Given the description of an element on the screen output the (x, y) to click on. 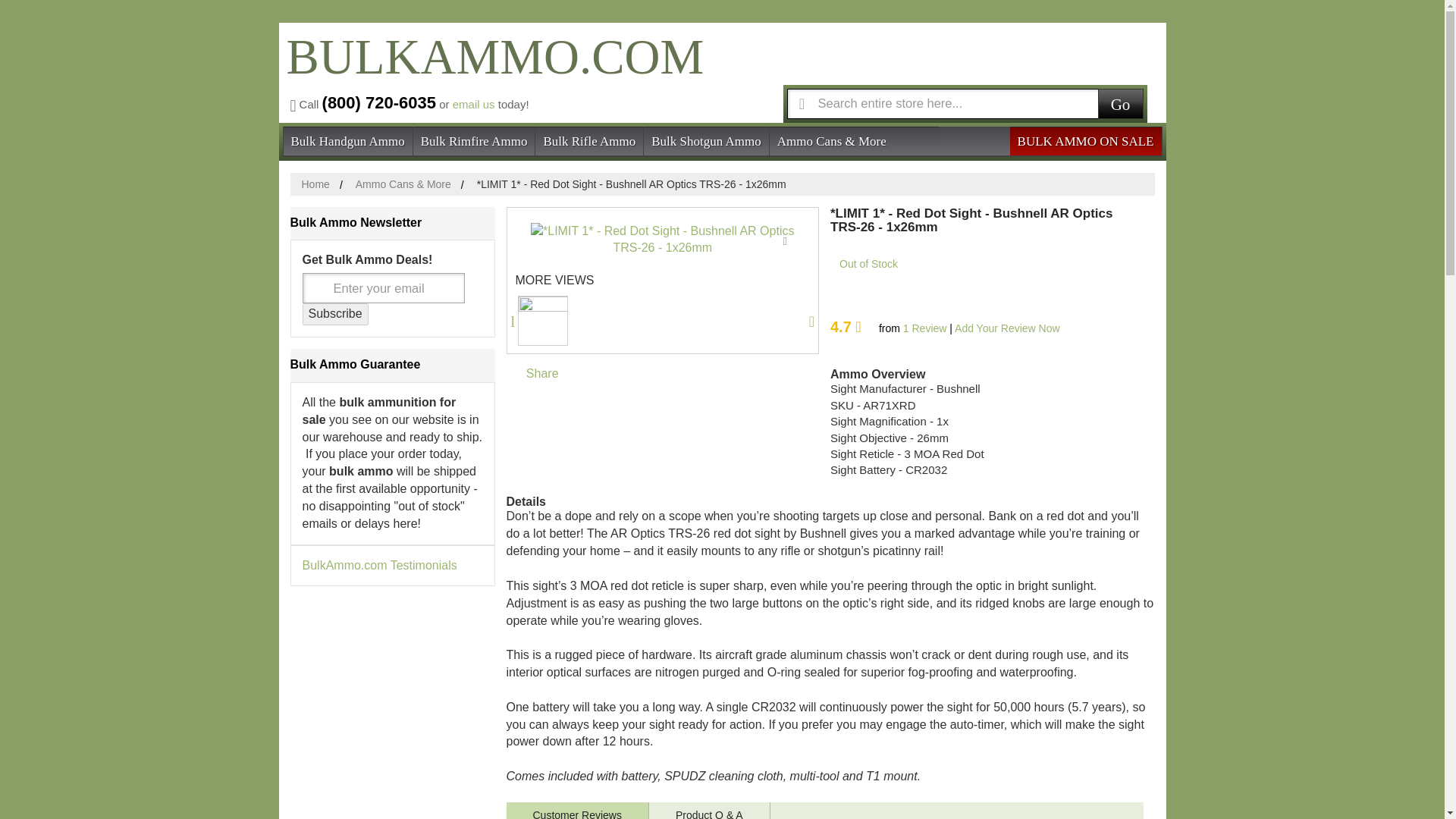
Bulk Handgun Ammo (347, 140)
Bulk Rifle Ammo (589, 140)
email us (473, 103)
BULKAMMO.COM (491, 69)
Home (315, 183)
Bulk Ammo For Sale (491, 69)
Go (1119, 102)
Bulk Rimfire Ammo (474, 140)
Go (1119, 102)
